Given the description of an element on the screen output the (x, y) to click on. 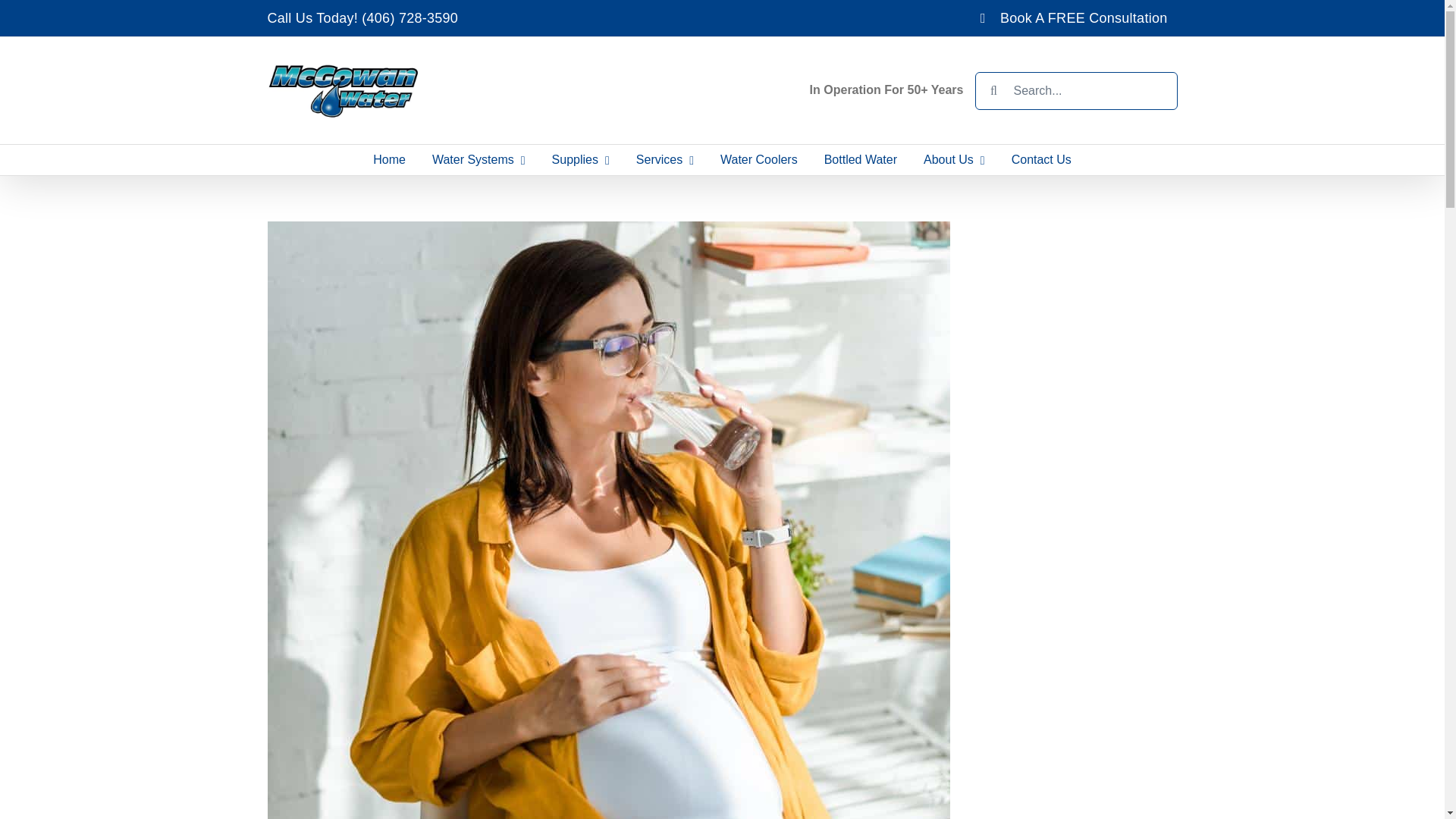
Water Systems (478, 159)
Home (389, 159)
Contact Us (1040, 159)
About Us (954, 159)
Supplies (580, 159)
Water Coolers (758, 159)
Services (664, 159)
Book A FREE Consultation (1074, 18)
Bottled Water (860, 159)
